Given the description of an element on the screen output the (x, y) to click on. 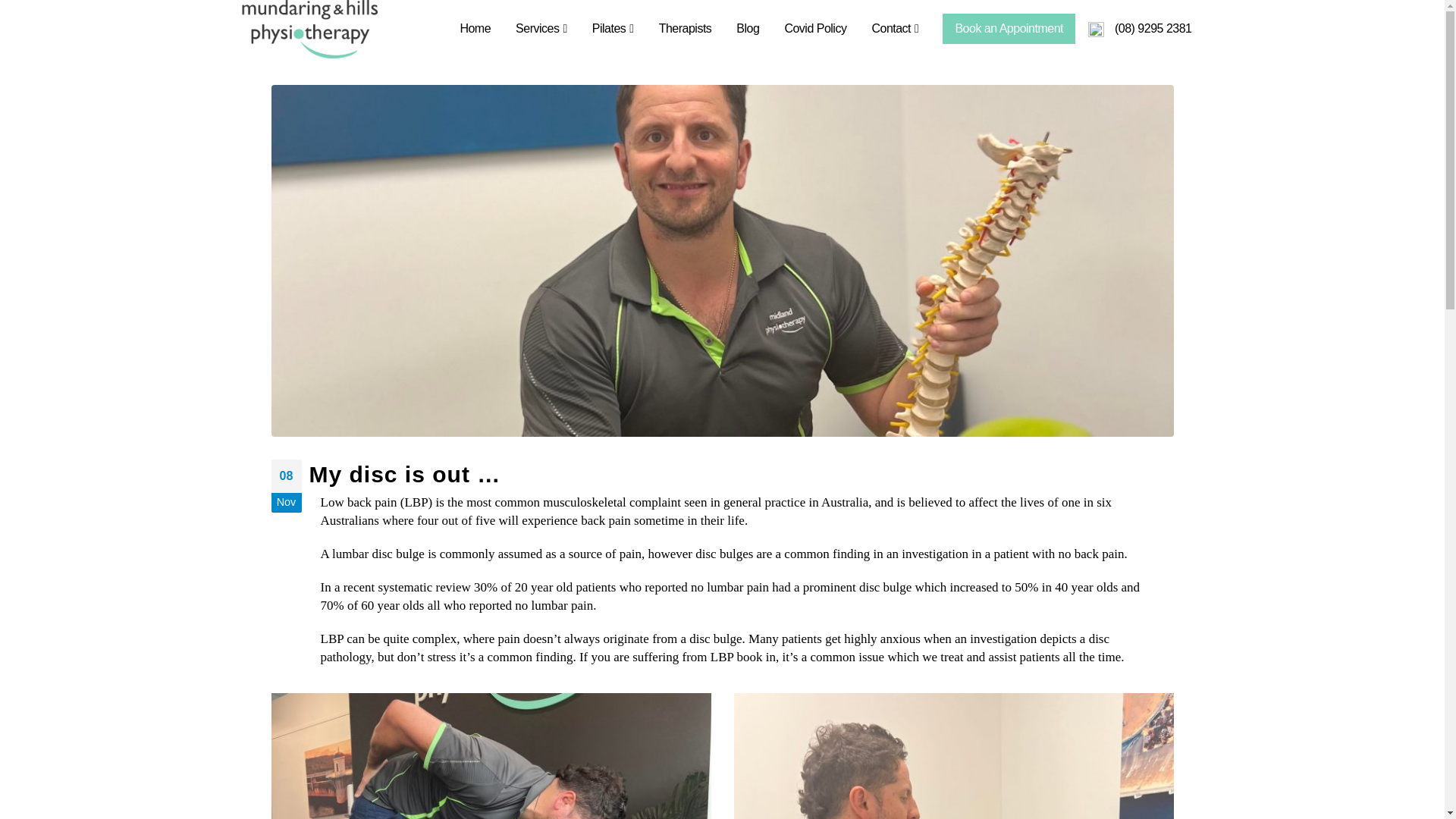
Blog (747, 28)
Covid Policy (815, 28)
Book an Appointment (1008, 28)
Pilates (612, 28)
Home (474, 28)
Therapists (684, 28)
Contact (894, 28)
Services (541, 28)
